Given the description of an element on the screen output the (x, y) to click on. 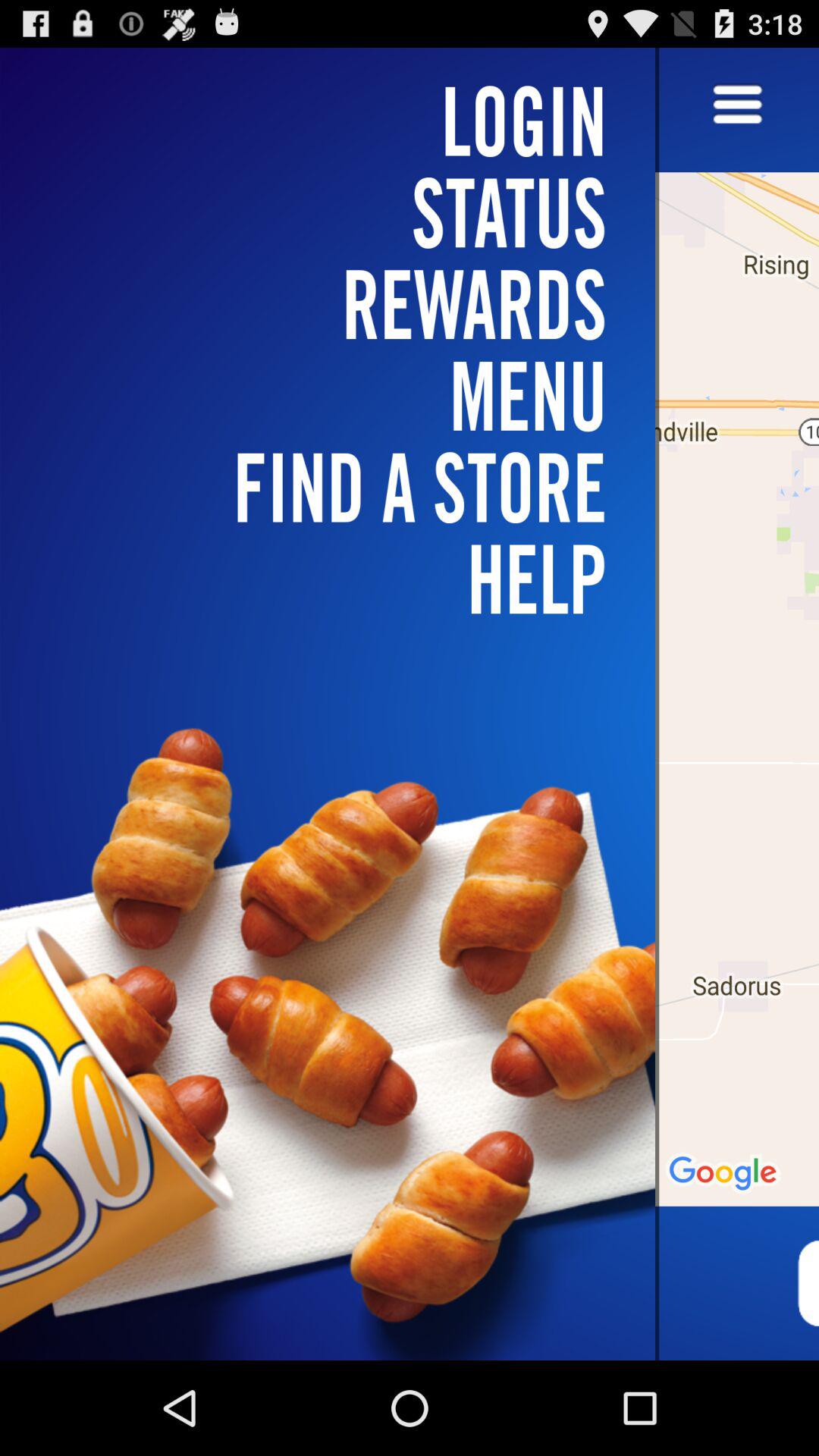
turn off the find a store icon (336, 486)
